Given the description of an element on the screen output the (x, y) to click on. 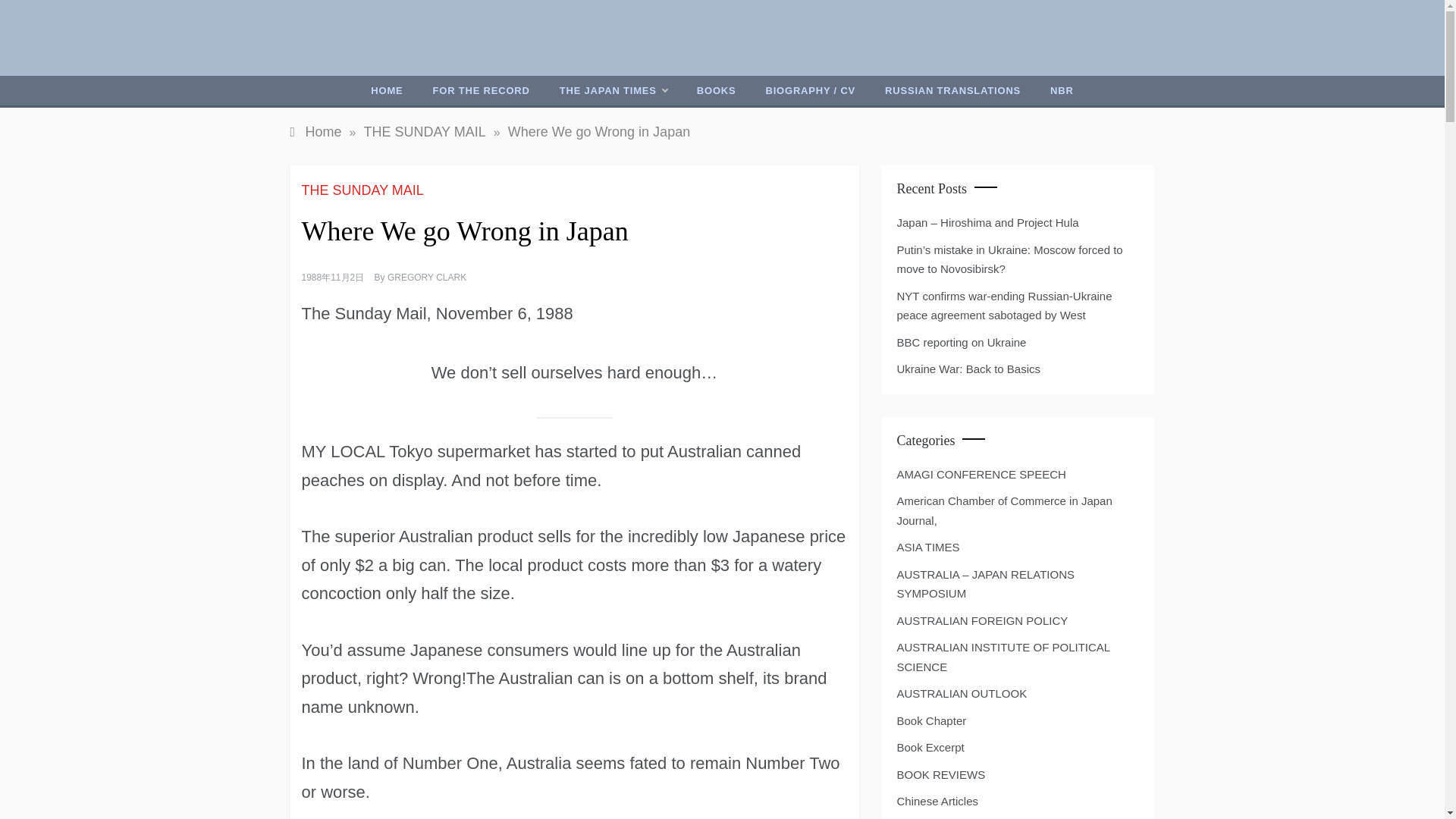
GREGORYCLARK.NET (696, 51)
FOR THE RECORD (480, 90)
NBR (1062, 90)
Where We go Wrong in Japan (599, 131)
GREGORY CLARK (426, 276)
THE JAPAN TIMES (612, 90)
HOME (386, 90)
THE SUNDAY MAIL (364, 190)
THE SUNDAY MAIL (423, 131)
BOOKS (716, 90)
